Given the description of an element on the screen output the (x, y) to click on. 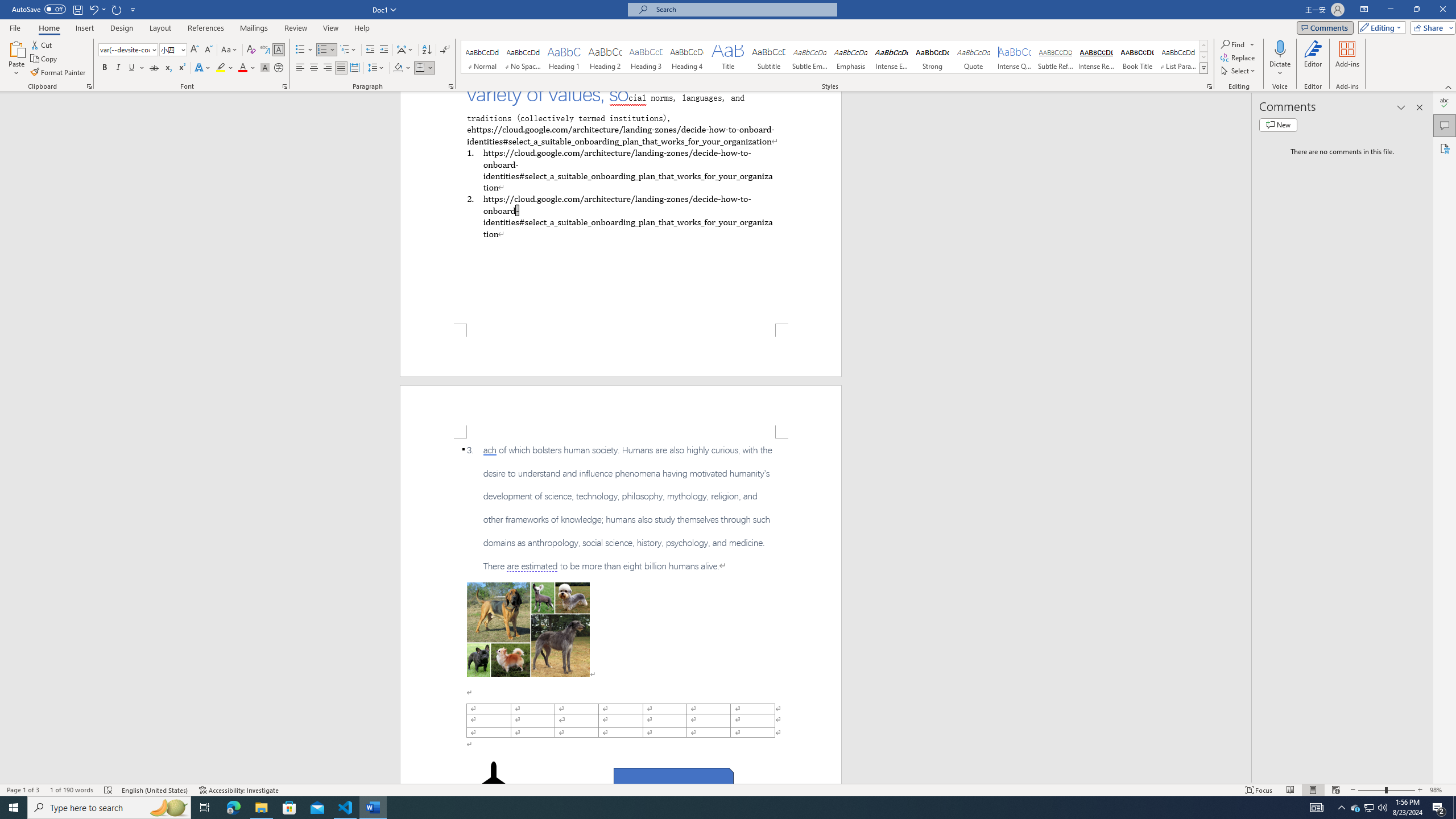
Page Number Page 1 of 3 (22, 790)
Borders (424, 67)
Task Pane Options (1400, 107)
Undo Paragraph Alignment (92, 9)
1. (620, 169)
Heading 1 (564, 56)
Subtle Reference (1055, 56)
Customize Quick Access Toolbar (133, 9)
Language English (United States) (154, 790)
Font (124, 49)
Shrink Font (208, 49)
Justify (340, 67)
System (6, 6)
Comments (1325, 27)
Sort... (426, 49)
